Given the description of an element on the screen output the (x, y) to click on. 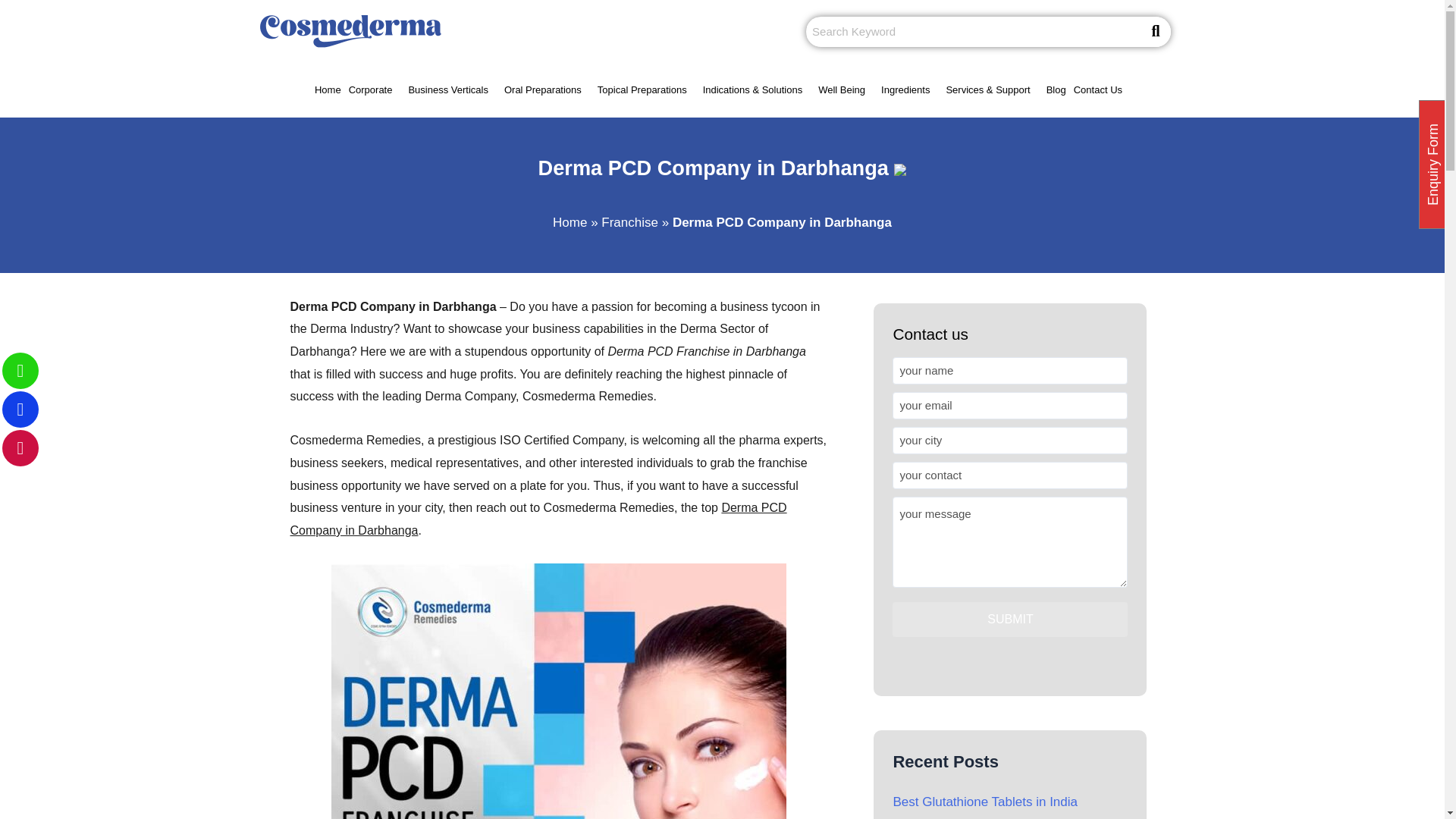
Oral Preparations (549, 89)
Corporate (379, 89)
Search (973, 31)
Business Verticals (455, 89)
Topical Preparations (649, 89)
submit (1009, 619)
